Given the description of an element on the screen output the (x, y) to click on. 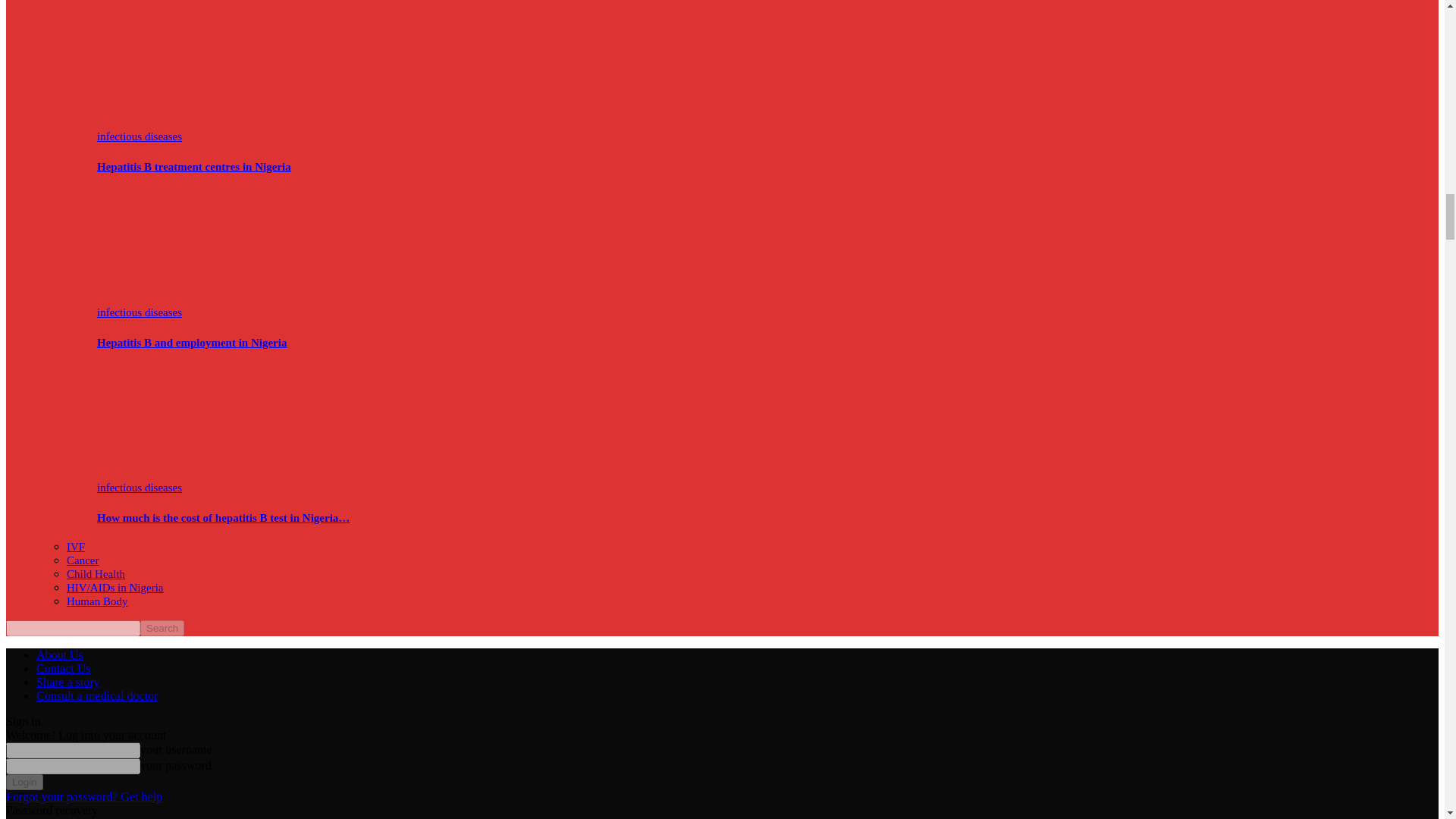
Search (161, 627)
Login (24, 781)
